Given the description of an element on the screen output the (x, y) to click on. 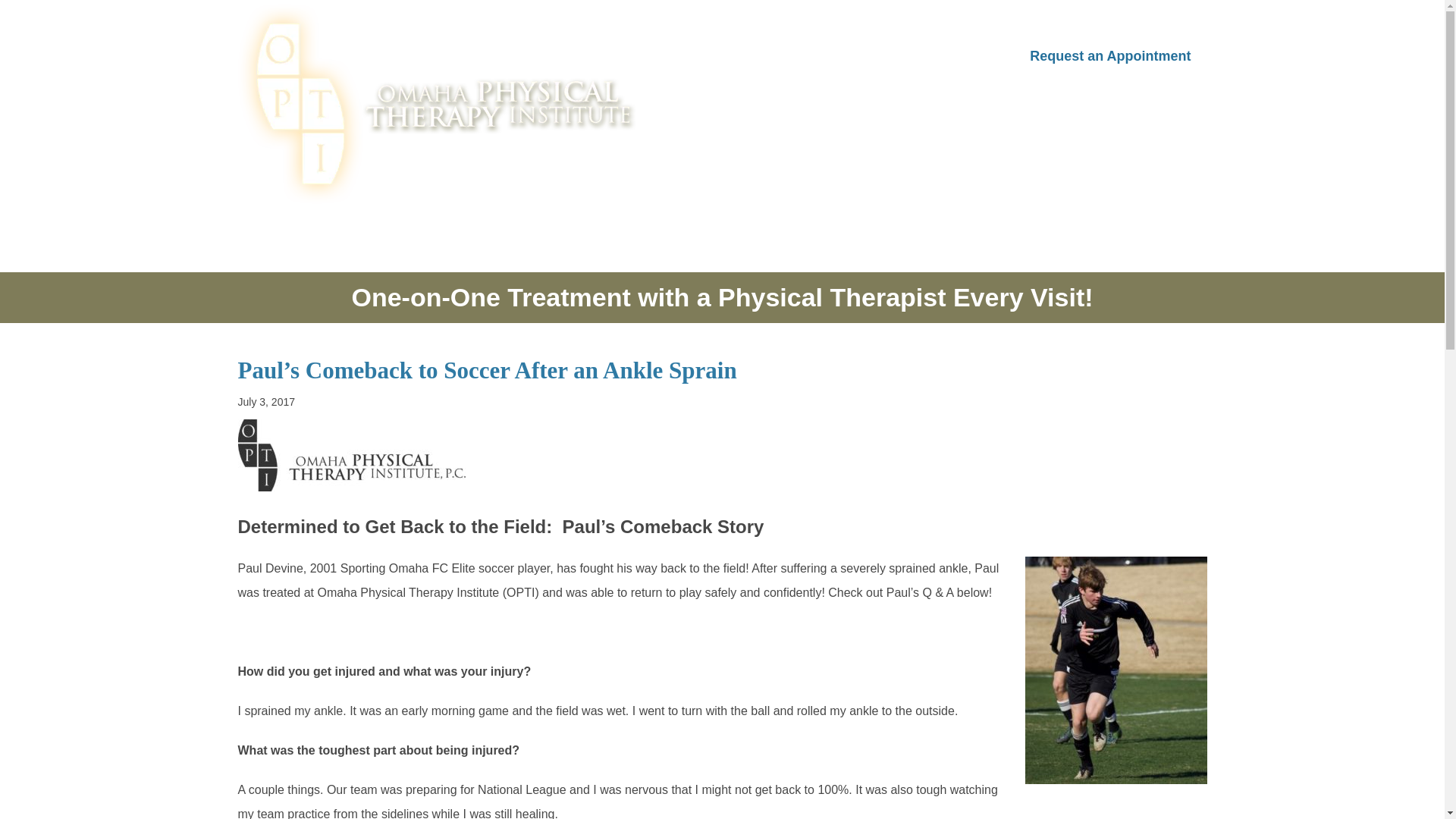
Contact (972, 56)
Blog (900, 56)
Services (824, 56)
About OPTI (727, 56)
